Given the description of an element on the screen output the (x, y) to click on. 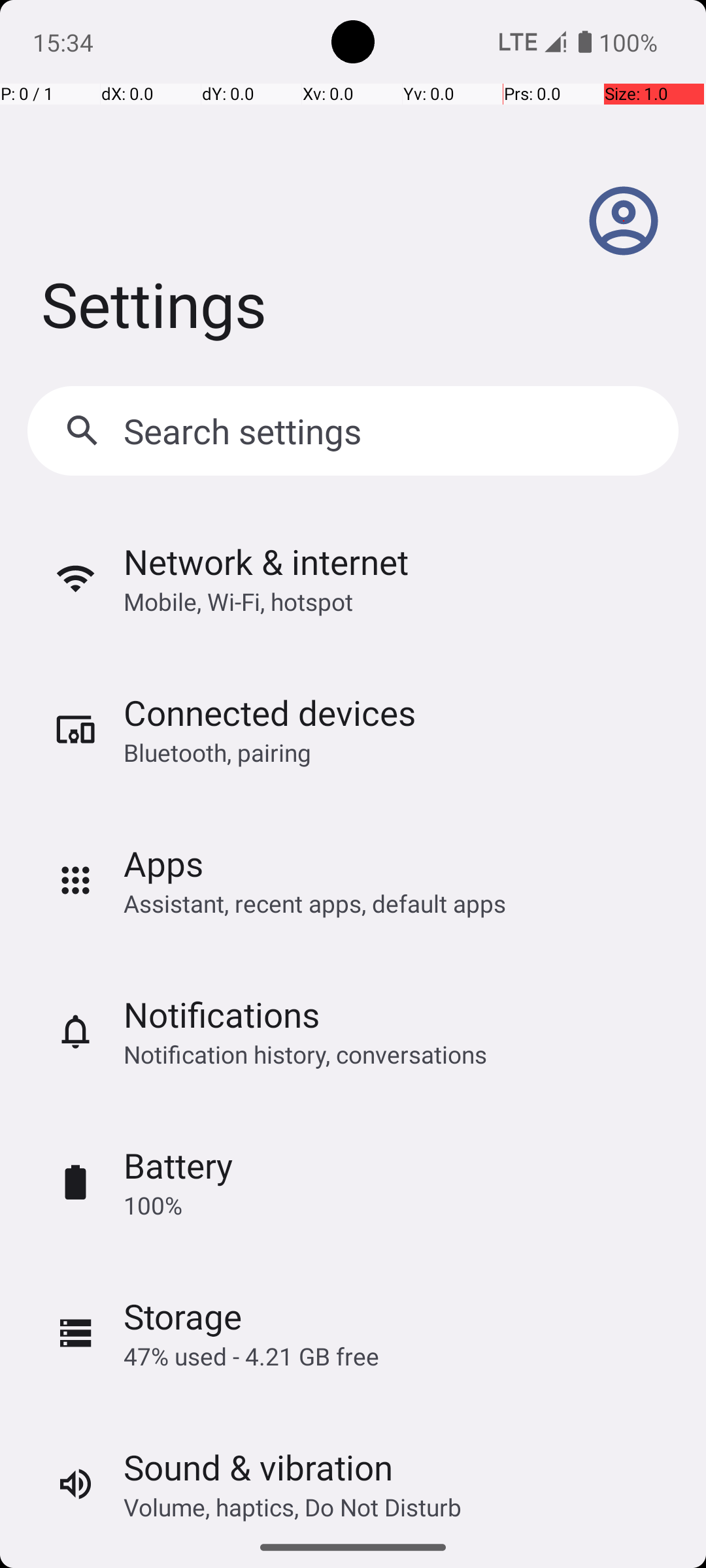
47% used - 4.21 GB free Element type: android.widget.TextView (251, 1355)
